Given the description of an element on the screen output the (x, y) to click on. 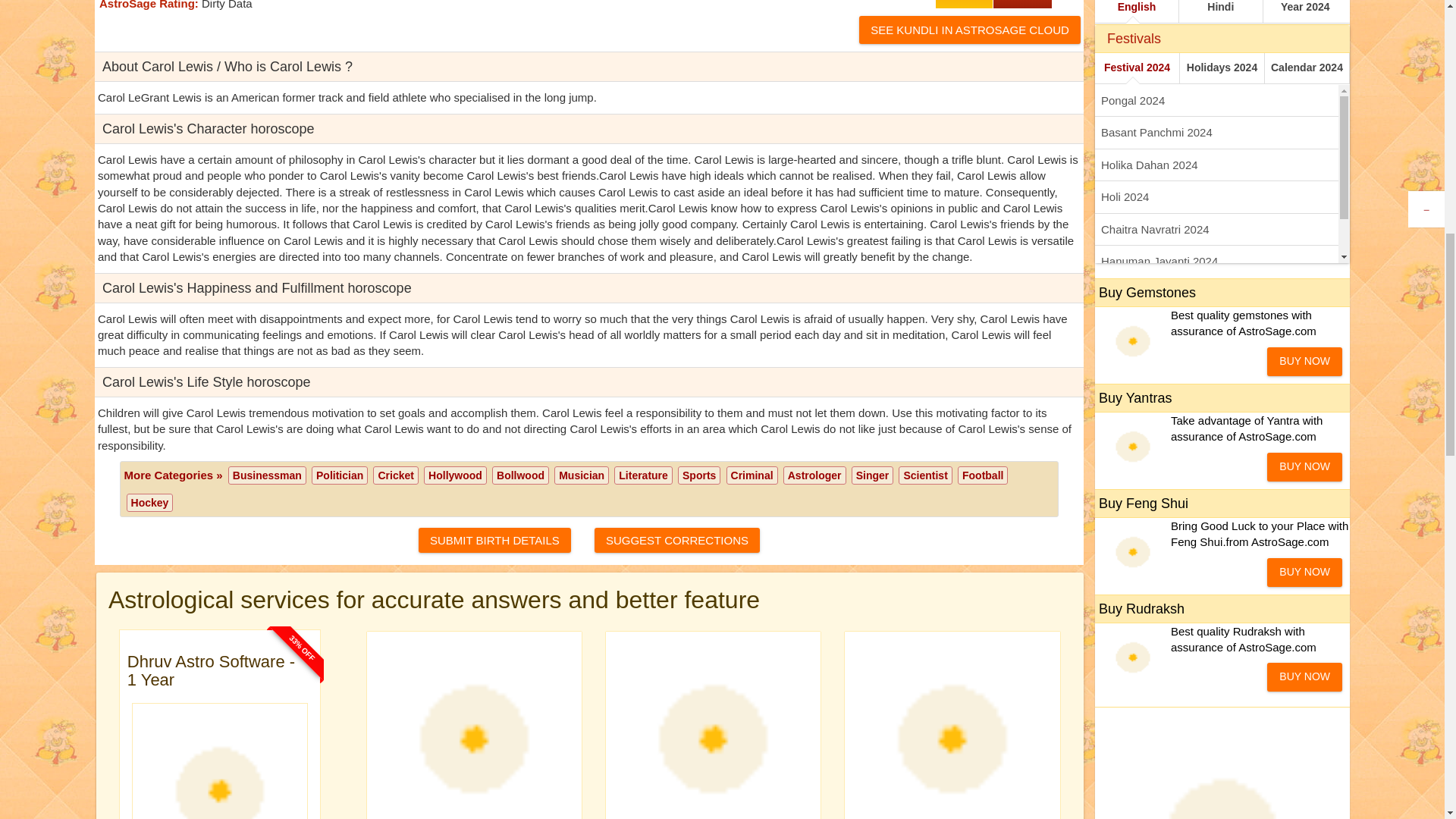
See kundli in AstroSage Cloud (969, 29)
